Given the description of an element on the screen output the (x, y) to click on. 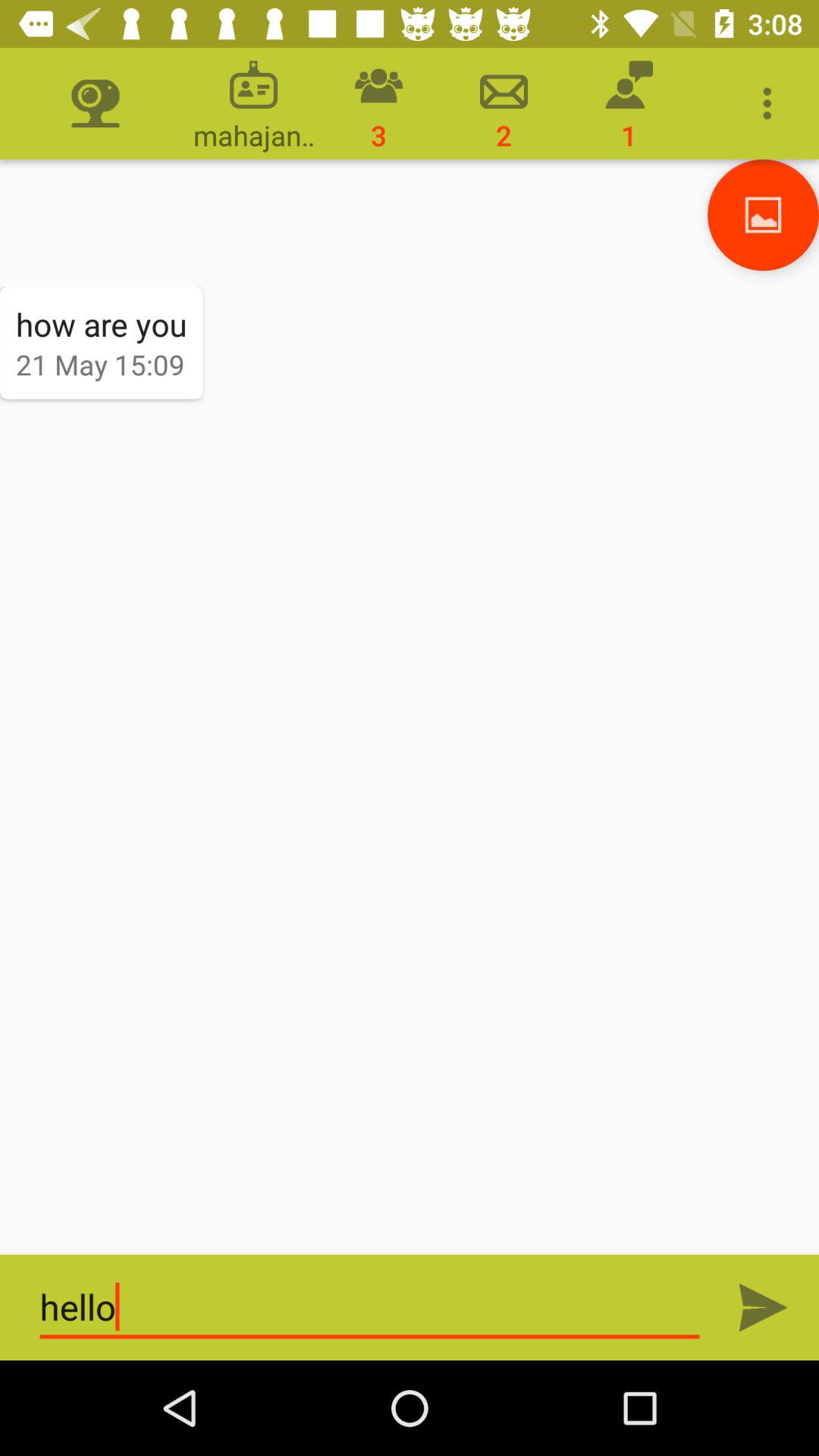
galery (763, 214)
